Given the description of an element on the screen output the (x, y) to click on. 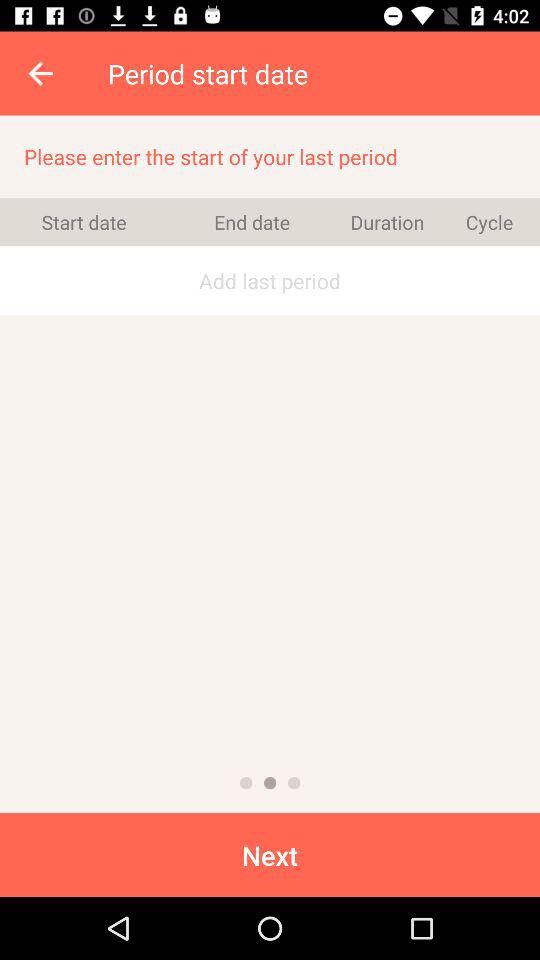
turn on icon below add last period (294, 782)
